Given the description of an element on the screen output the (x, y) to click on. 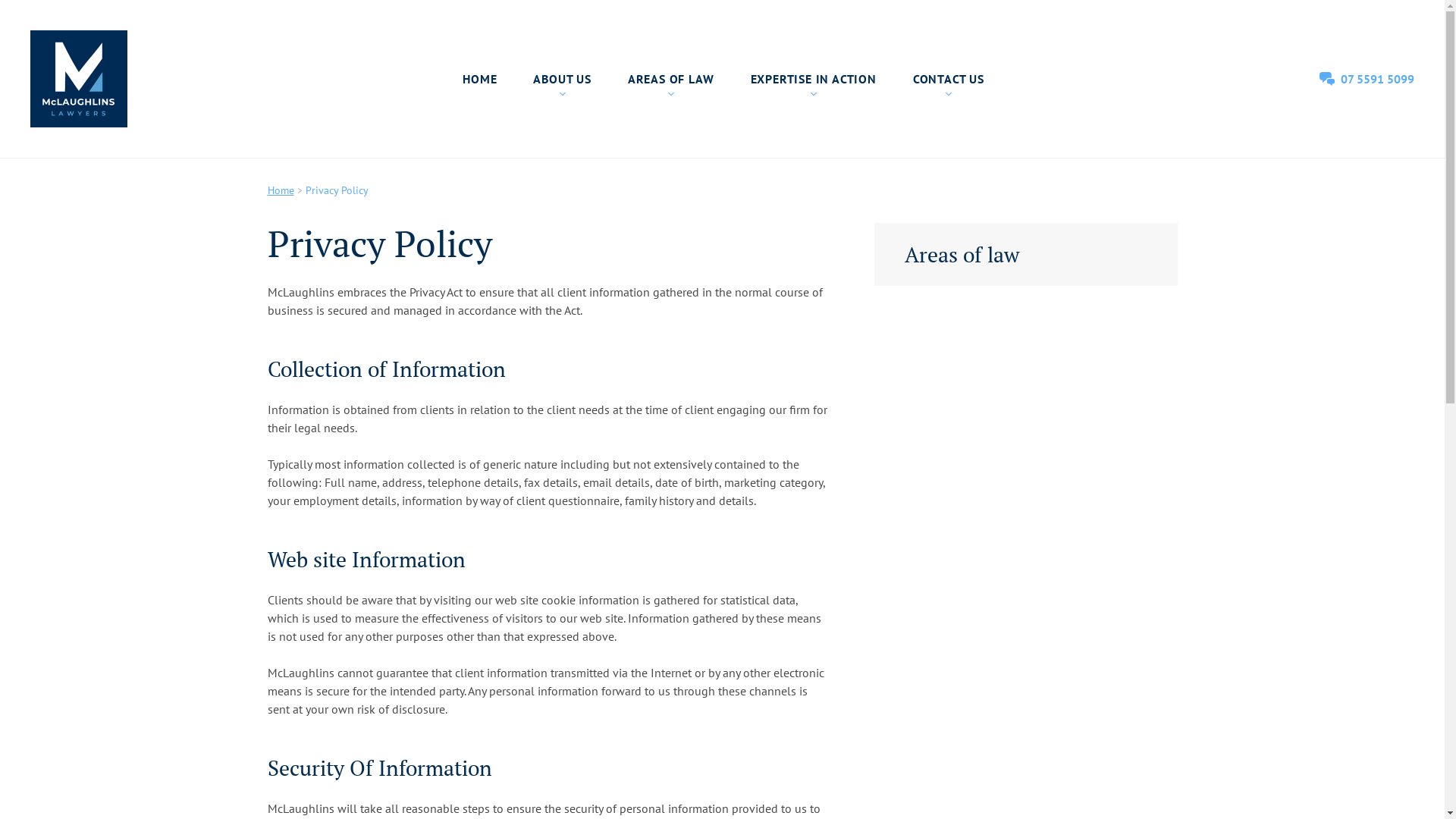
07 5591 5099 Element type: text (1366, 78)
CONTACT US Element type: text (948, 78)
EXPERTISE IN ACTION Element type: text (813, 78)
Home Element type: text (279, 190)
ABOUT US Element type: text (561, 78)
HOME Element type: text (479, 78)
AREAS OF LAW Element type: text (670, 78)
